Given the description of an element on the screen output the (x, y) to click on. 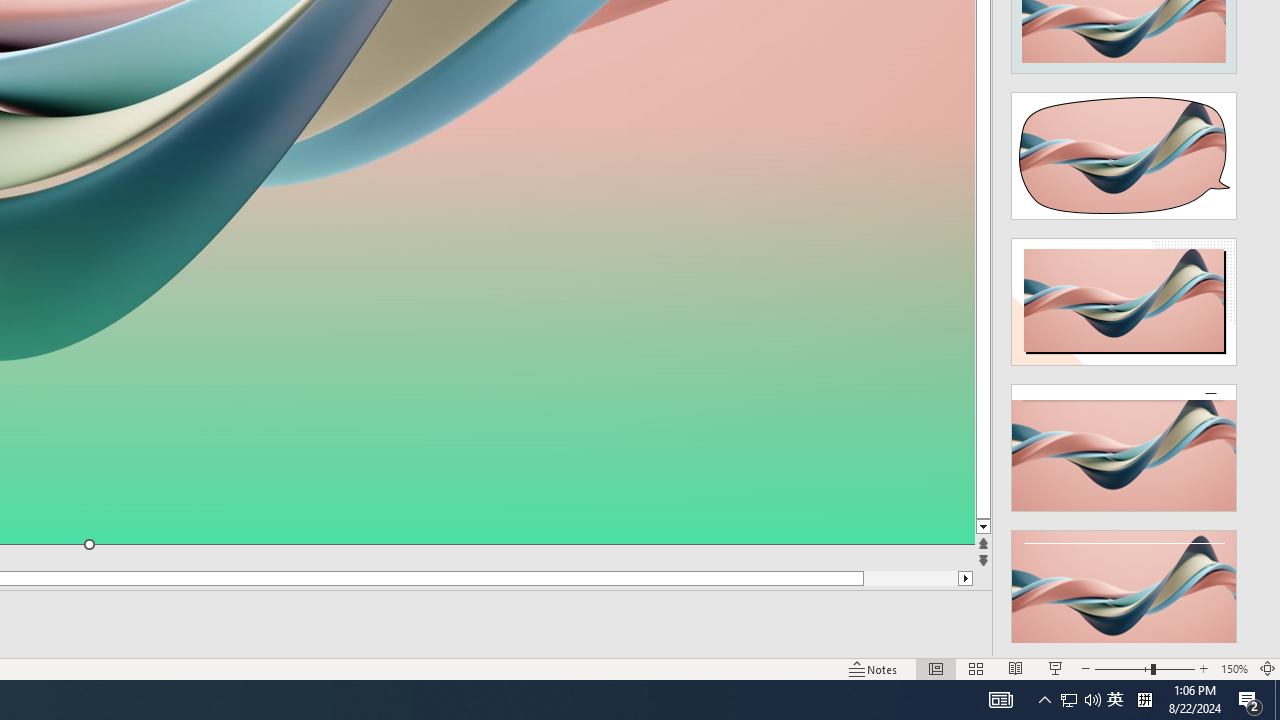
Zoom 150% (1234, 668)
Design Idea (1124, 587)
